Given the description of an element on the screen output the (x, y) to click on. 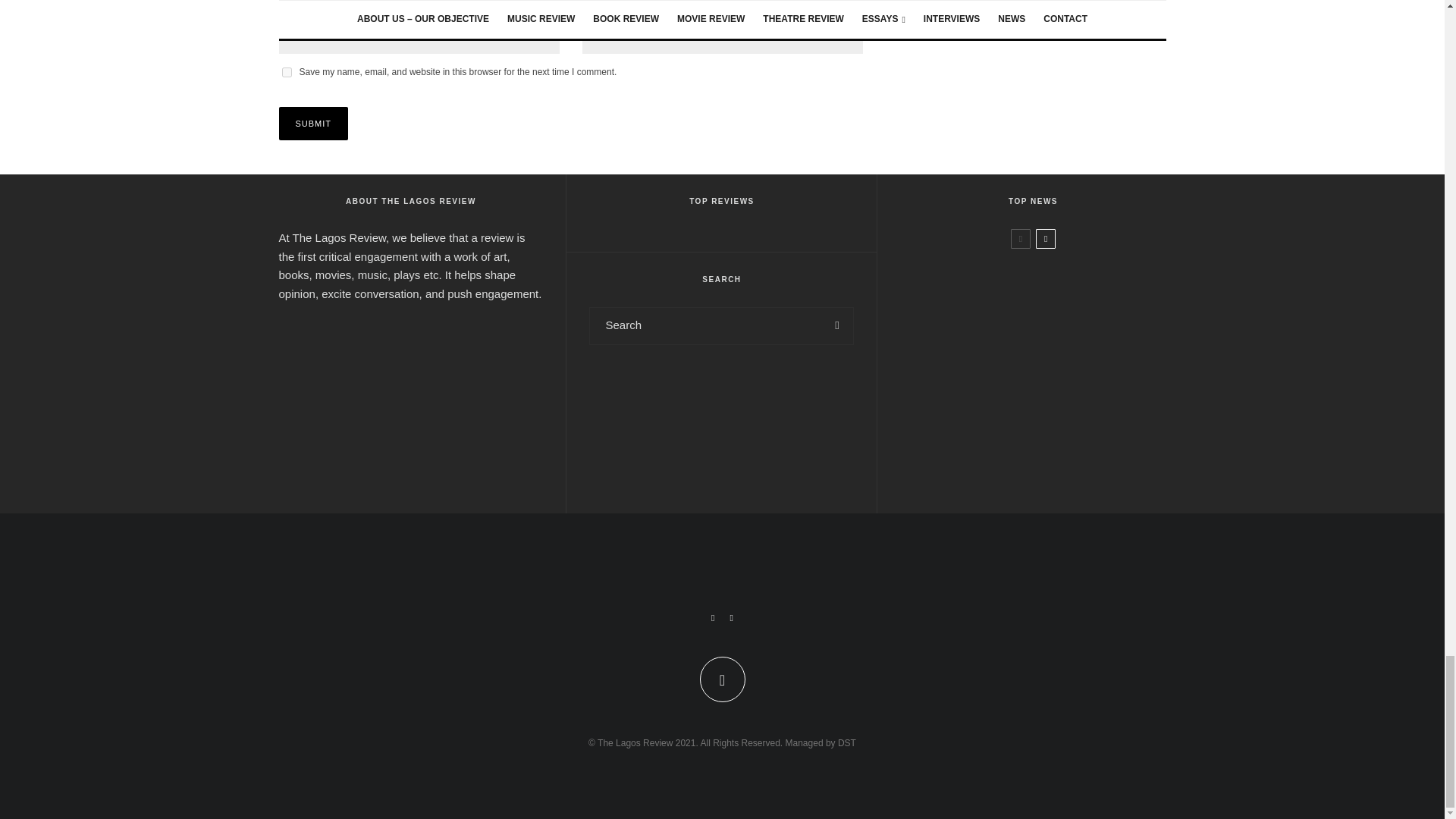
Submit (314, 123)
yes (287, 71)
